Given the description of an element on the screen output the (x, y) to click on. 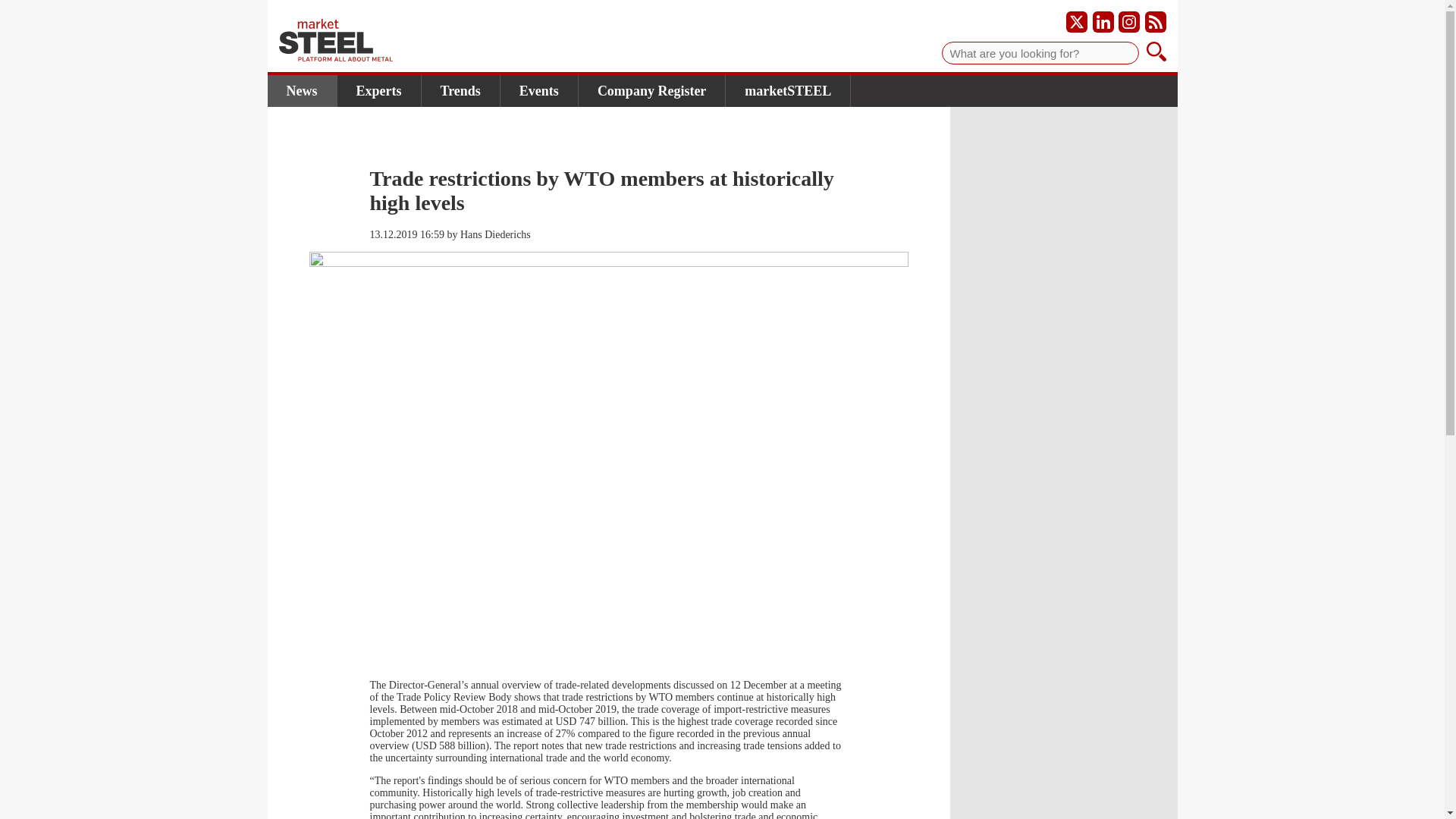
News (301, 91)
Experts (378, 91)
Experts (378, 91)
News (301, 91)
Trends (461, 91)
Trends (461, 91)
